Given the description of an element on the screen output the (x, y) to click on. 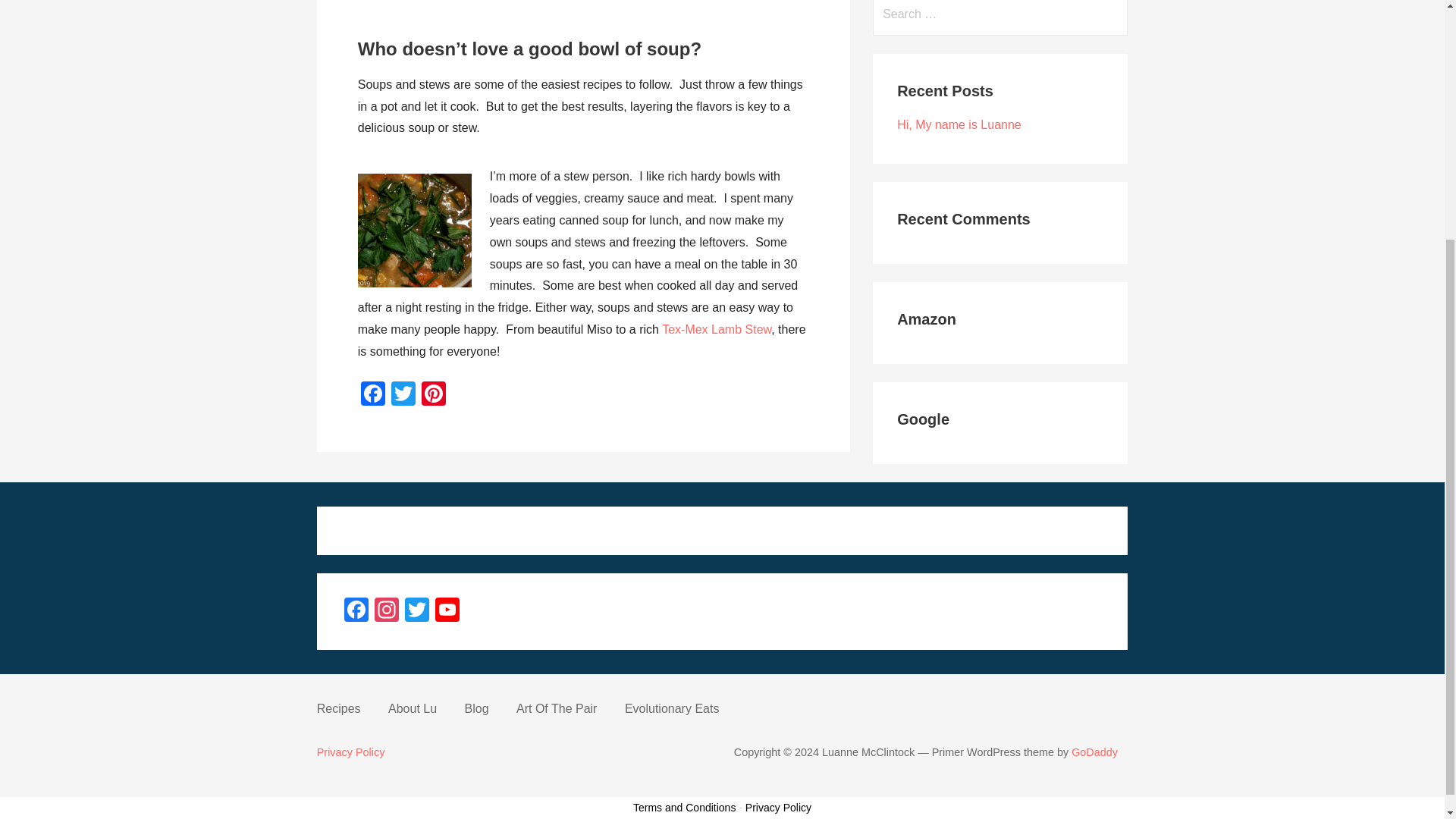
Twitter (403, 395)
YouTube Channel (447, 611)
Twitter (416, 611)
Facebook (373, 395)
Facebook (355, 611)
Pinterest (433, 395)
Tex-Mex Lamb Stew (716, 328)
Instagram (386, 611)
